Given the description of an element on the screen output the (x, y) to click on. 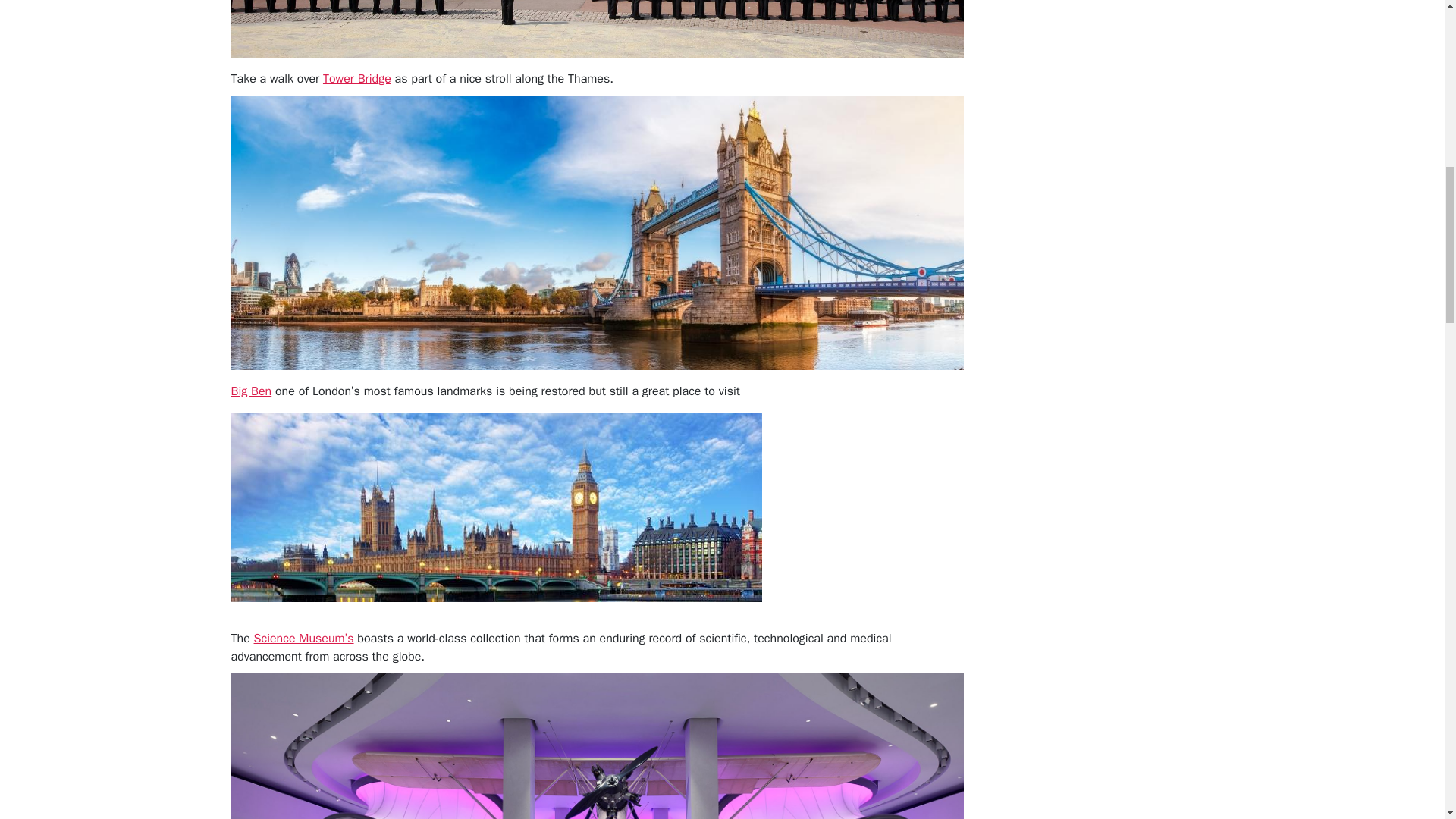
Big Ben (250, 391)
Tower Bridge (357, 78)
science museum (303, 638)
